Given the description of an element on the screen output the (x, y) to click on. 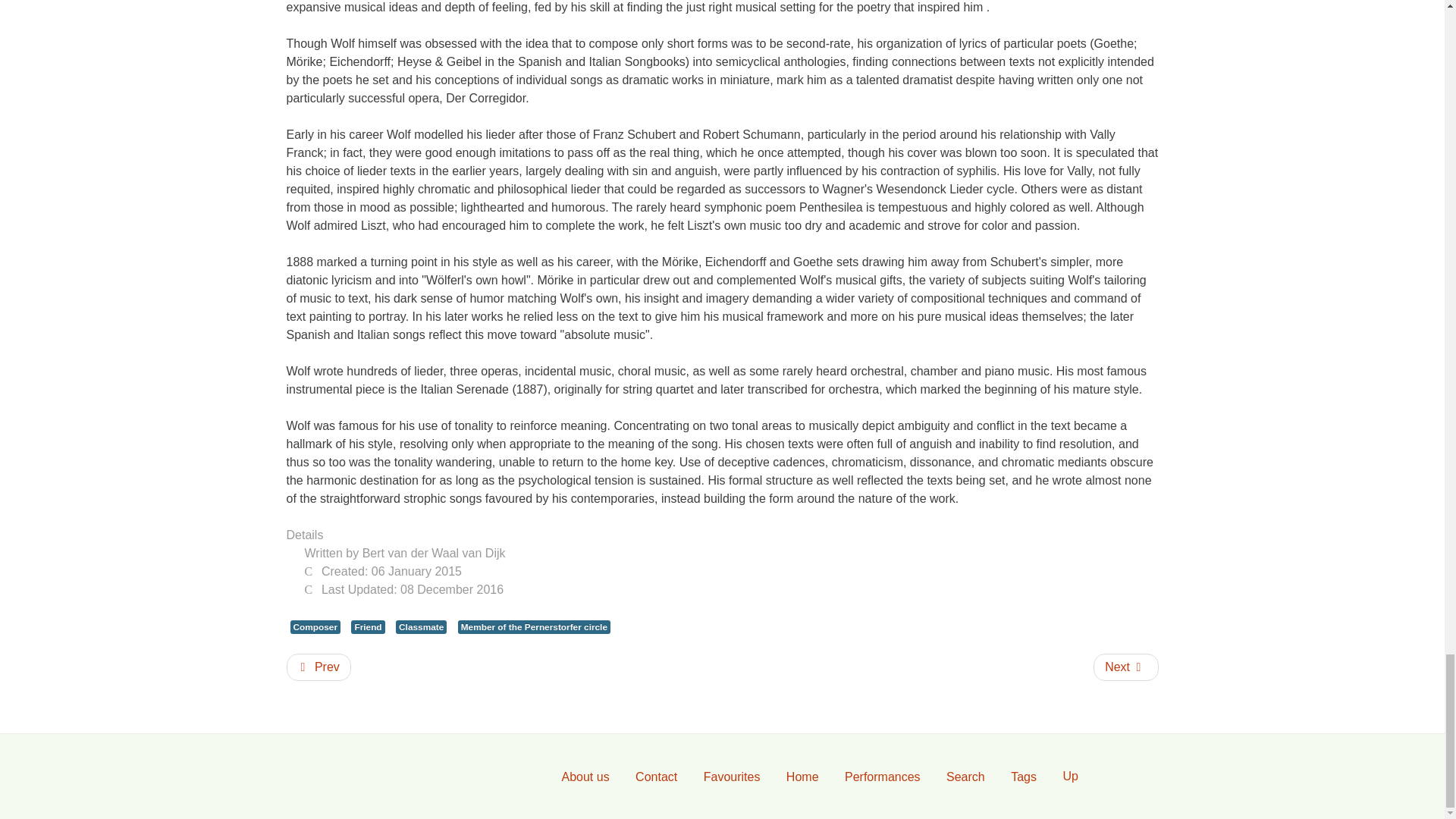
Search (964, 776)
Friend (367, 626)
Prev (318, 666)
Composer (314, 626)
Tags (1023, 776)
Classmate (421, 626)
Member of the Pernerstorfer circle (534, 626)
Up (1069, 775)
Next (1125, 666)
Performances (881, 776)
Contact (656, 776)
About us (585, 776)
Tags (1023, 776)
Home (801, 776)
Favourites (732, 776)
